Given the description of an element on the screen output the (x, y) to click on. 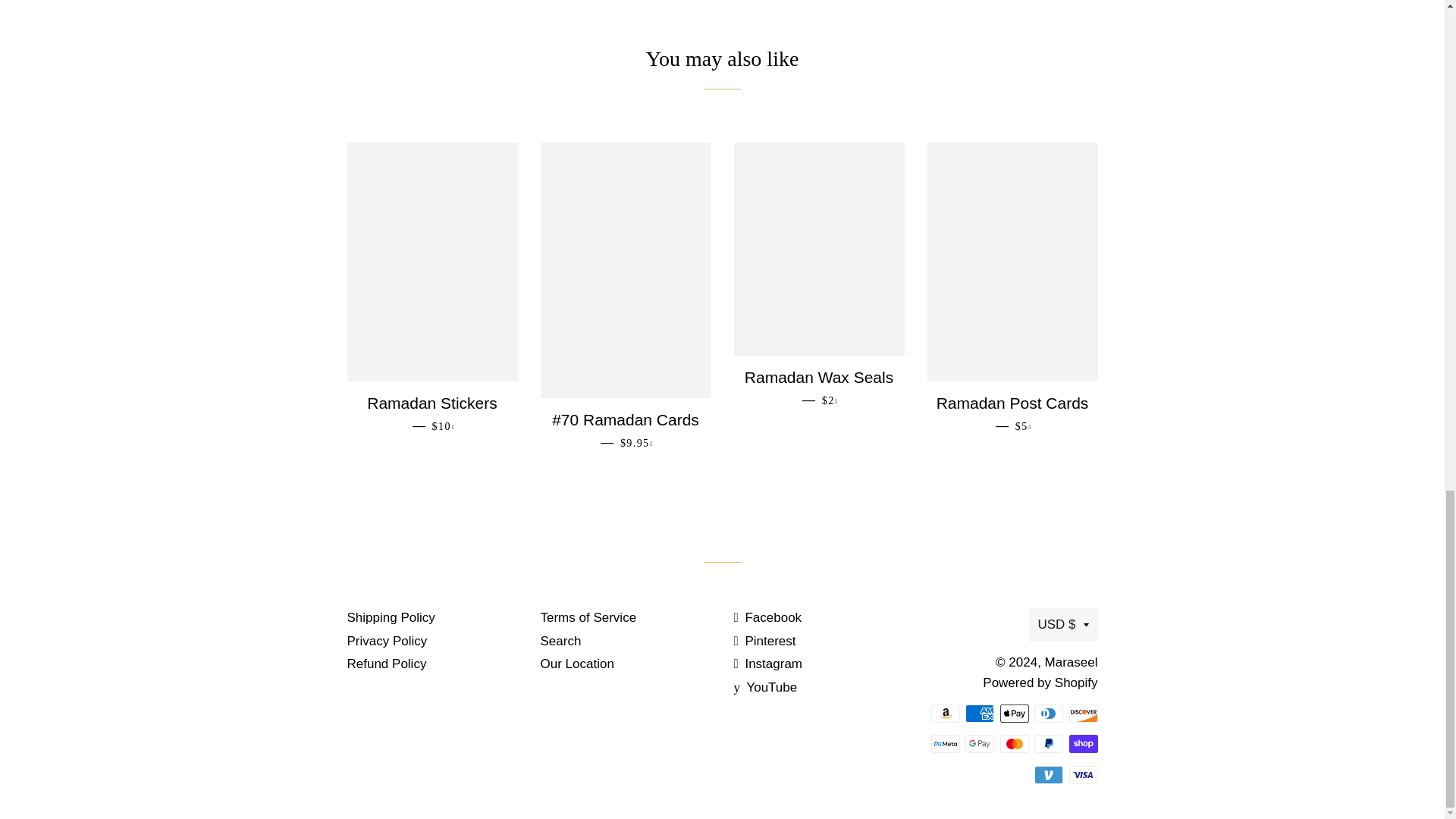
Meta Pay (945, 743)
Diners Club (1047, 713)
Mastercard (1012, 743)
Amazon (945, 713)
Apple Pay (1012, 713)
Maraseel on YouTube (765, 687)
Maraseel on Pinterest (764, 640)
American Express (979, 713)
Maraseel on Facebook (767, 617)
Visa (1082, 774)
